Given the description of an element on the screen output the (x, y) to click on. 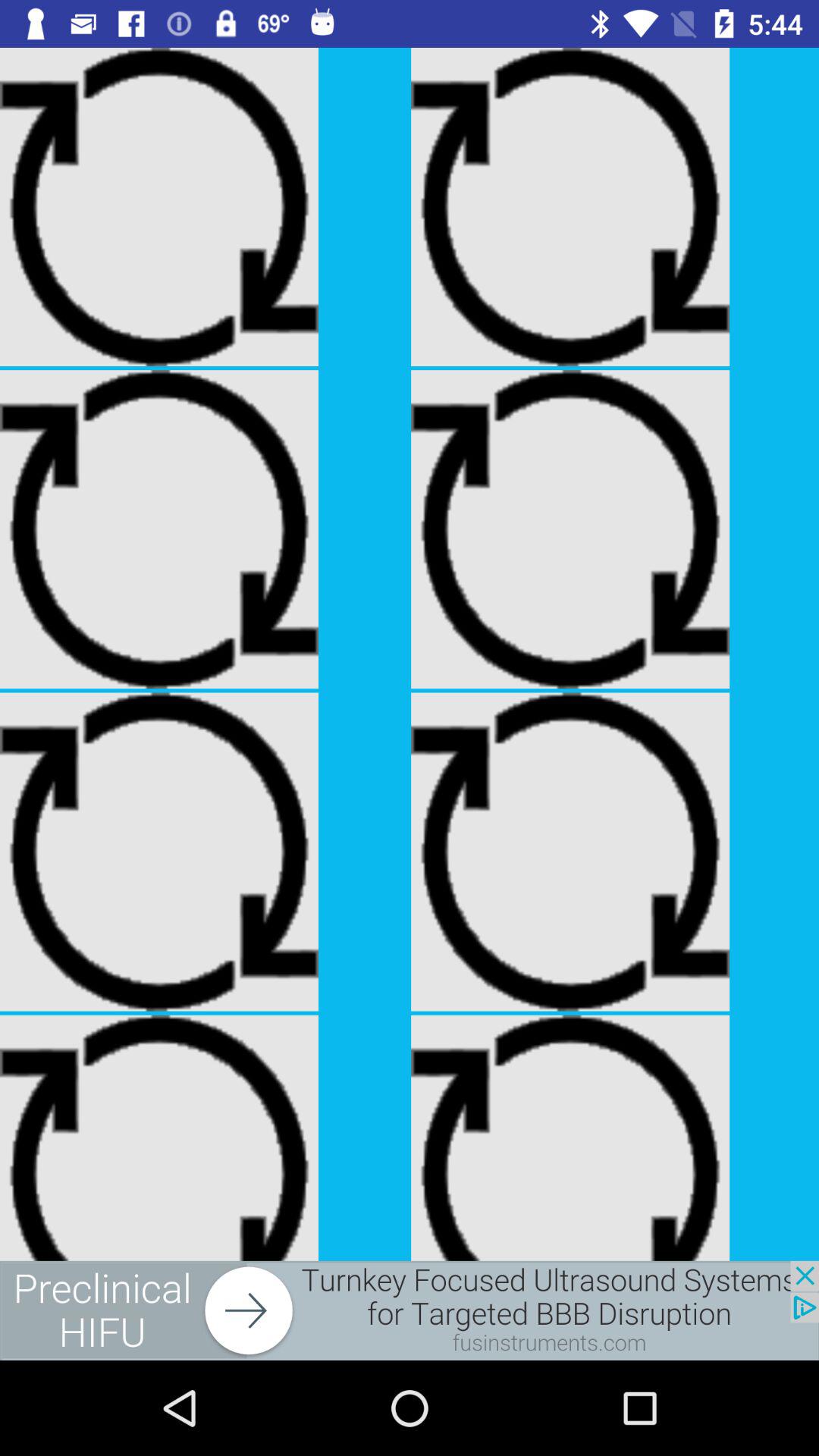
search google (409, 1310)
